Given the description of an element on the screen output the (x, y) to click on. 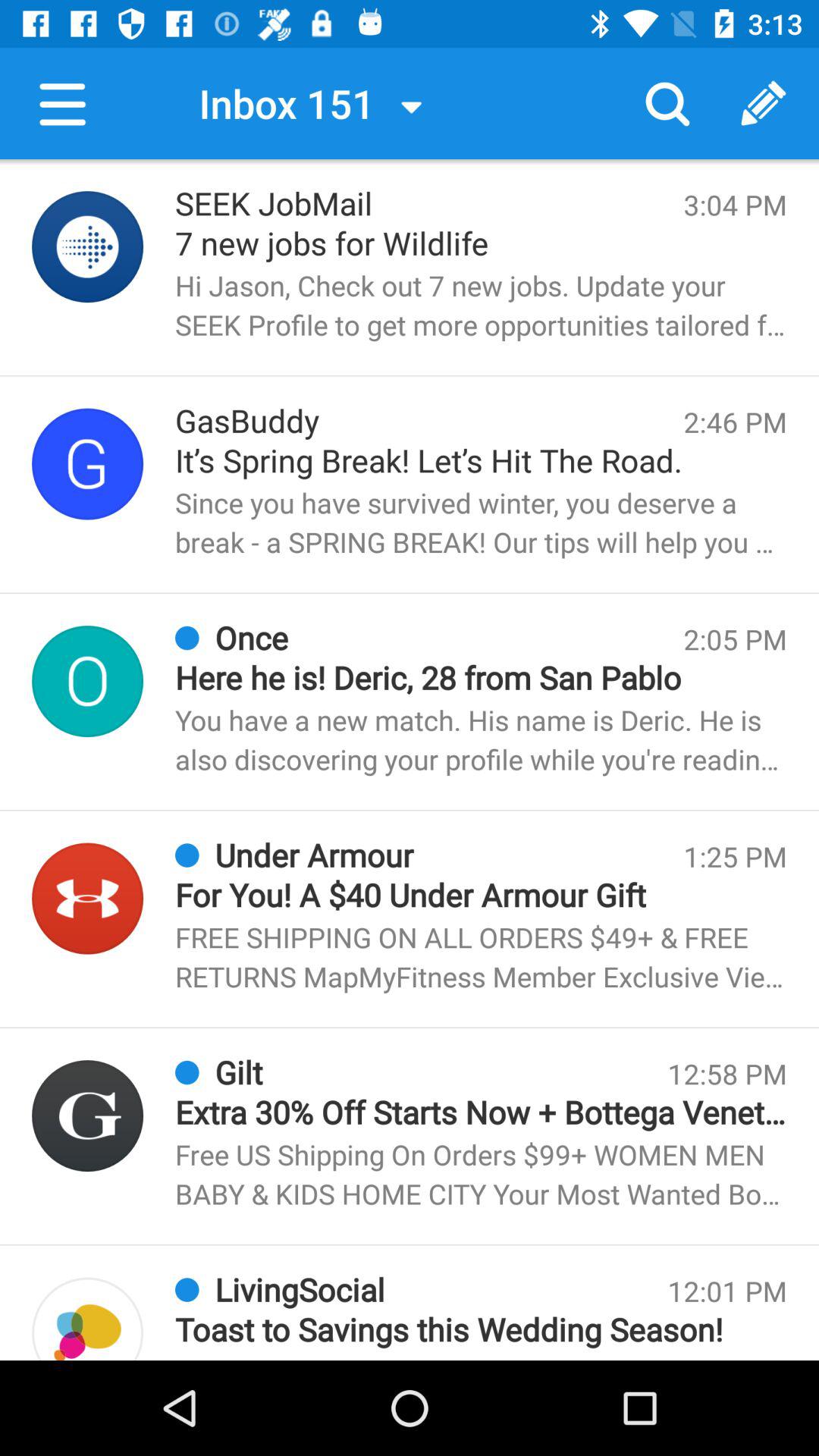
click the icon for gilt (87, 1115)
